Given the description of an element on the screen output the (x, y) to click on. 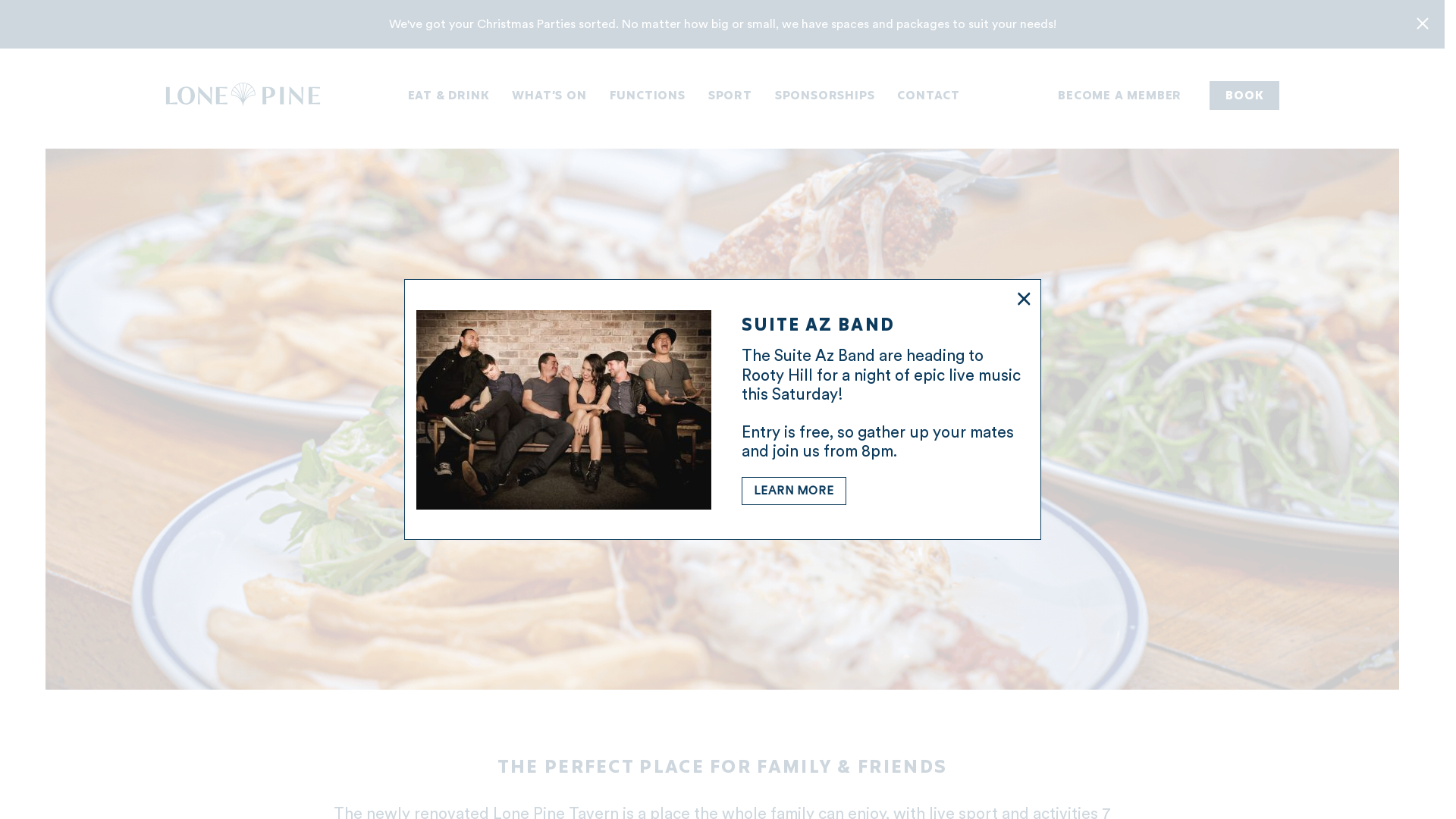
EAT & DRINK Element type: text (448, 95)
LEARN MORE Element type: text (793, 490)
BOOK Element type: text (1244, 95)
SPONSORSHIPS Element type: text (824, 95)
SPORT Element type: text (729, 95)
FUNCTIONS Element type: text (647, 95)
BECOME A MEMBER Element type: text (1119, 95)
CONTACT Element type: text (928, 95)
